Given the description of an element on the screen output the (x, y) to click on. 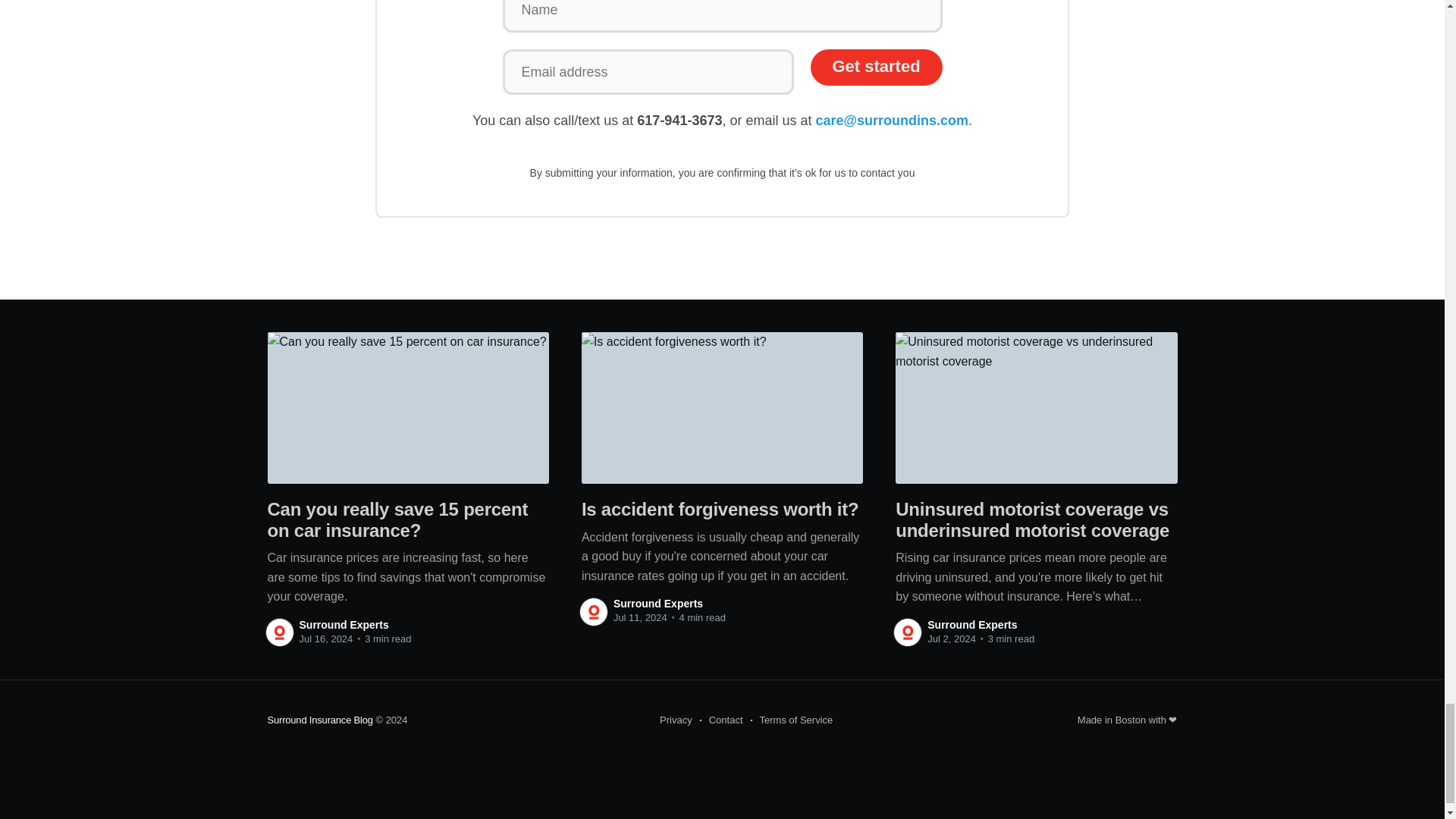
Surround Experts (971, 624)
Surround Insurance Blog (319, 719)
Surround Experts (657, 603)
Privacy (676, 719)
Contact (721, 719)
Terms of Service (791, 719)
Surround Experts (343, 624)
